Given the description of an element on the screen output the (x, y) to click on. 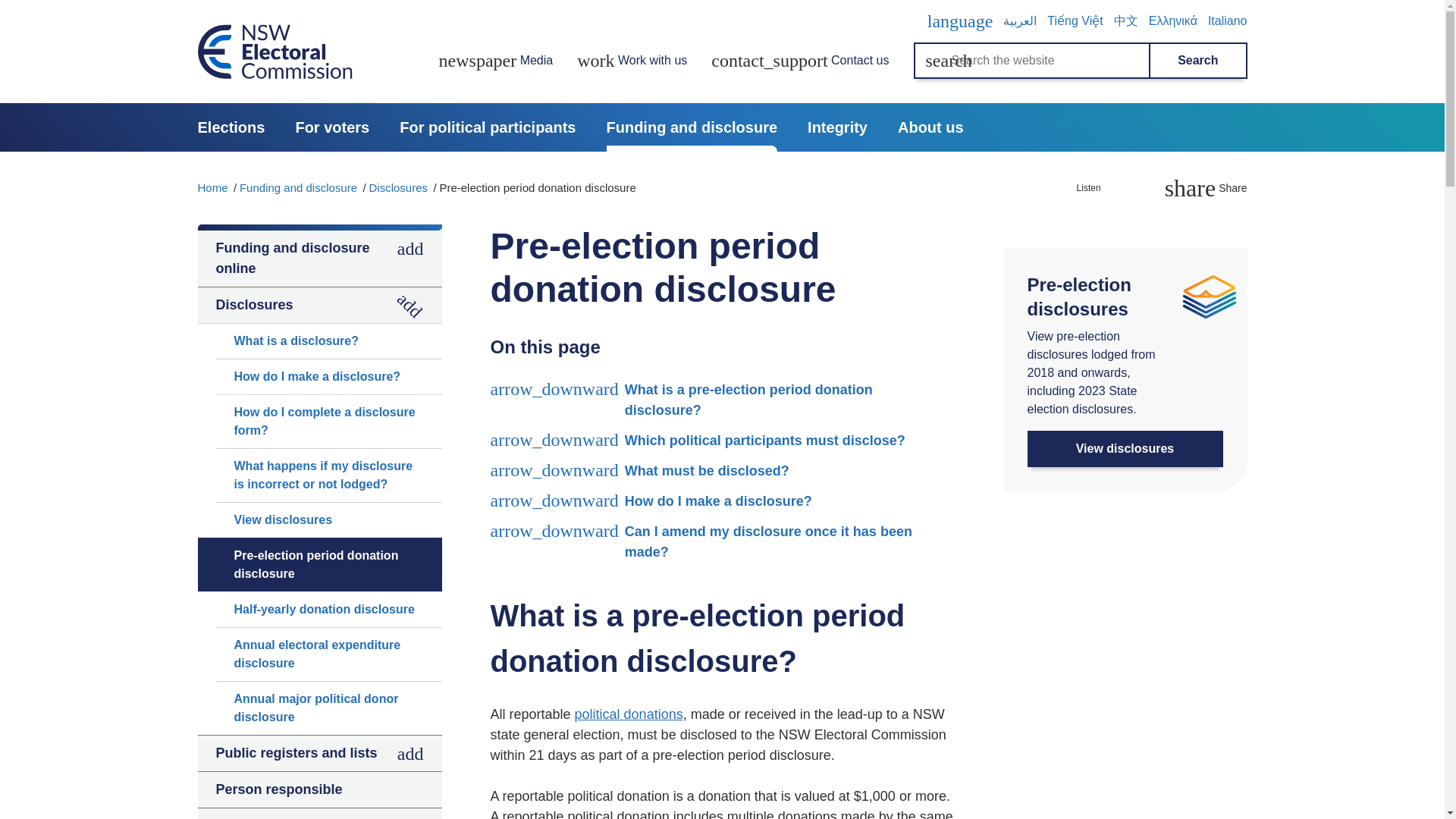
Listen to this page using ReadSpeaker (1097, 188)
Search (1197, 60)
Elections (230, 127)
Search: (949, 60)
Search (1160, 78)
Search (1197, 60)
